Given the description of an element on the screen output the (x, y) to click on. 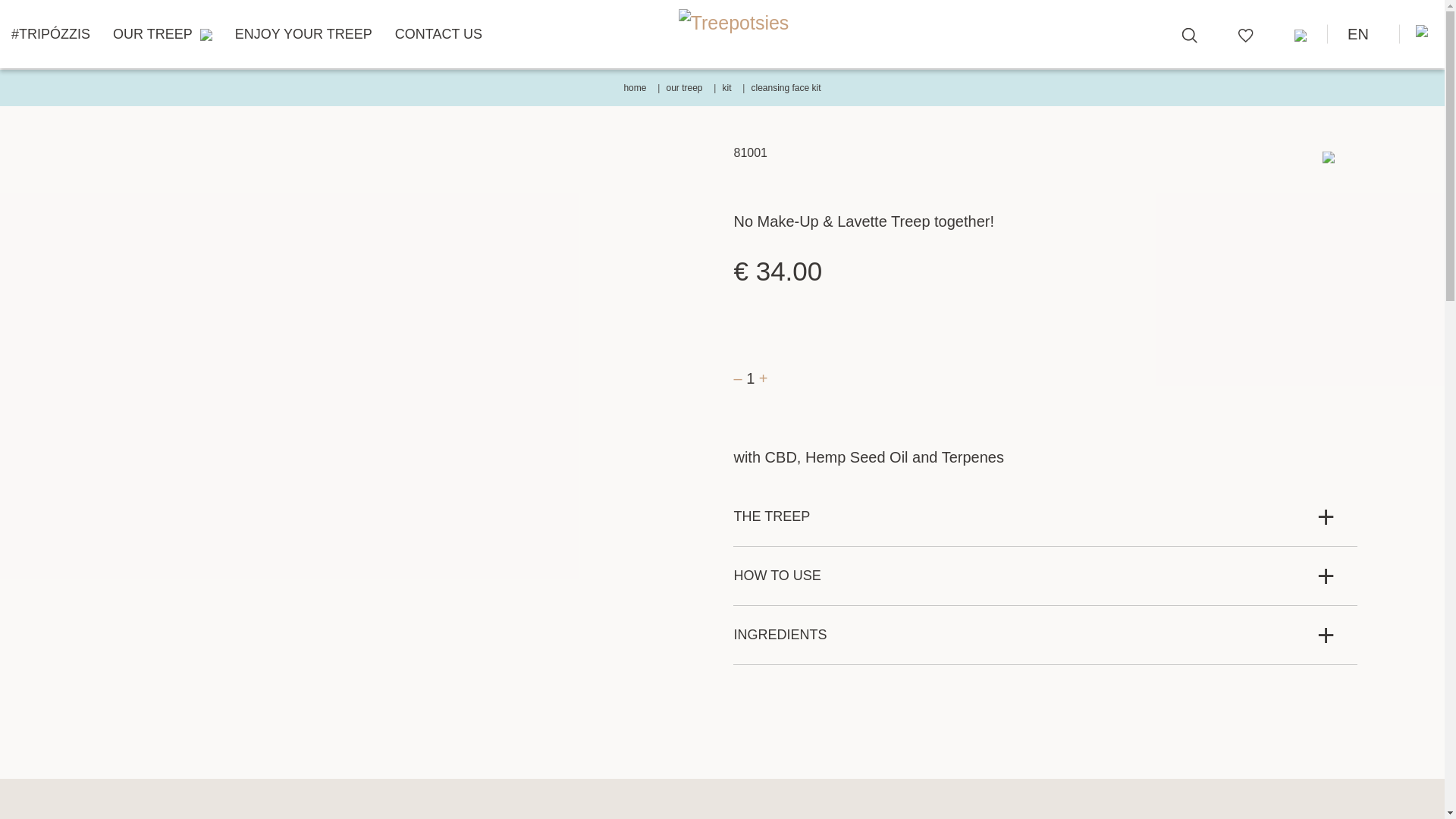
OUR TREEP (162, 33)
Preferiti (1246, 33)
EN (1362, 33)
